Given the description of an element on the screen output the (x, y) to click on. 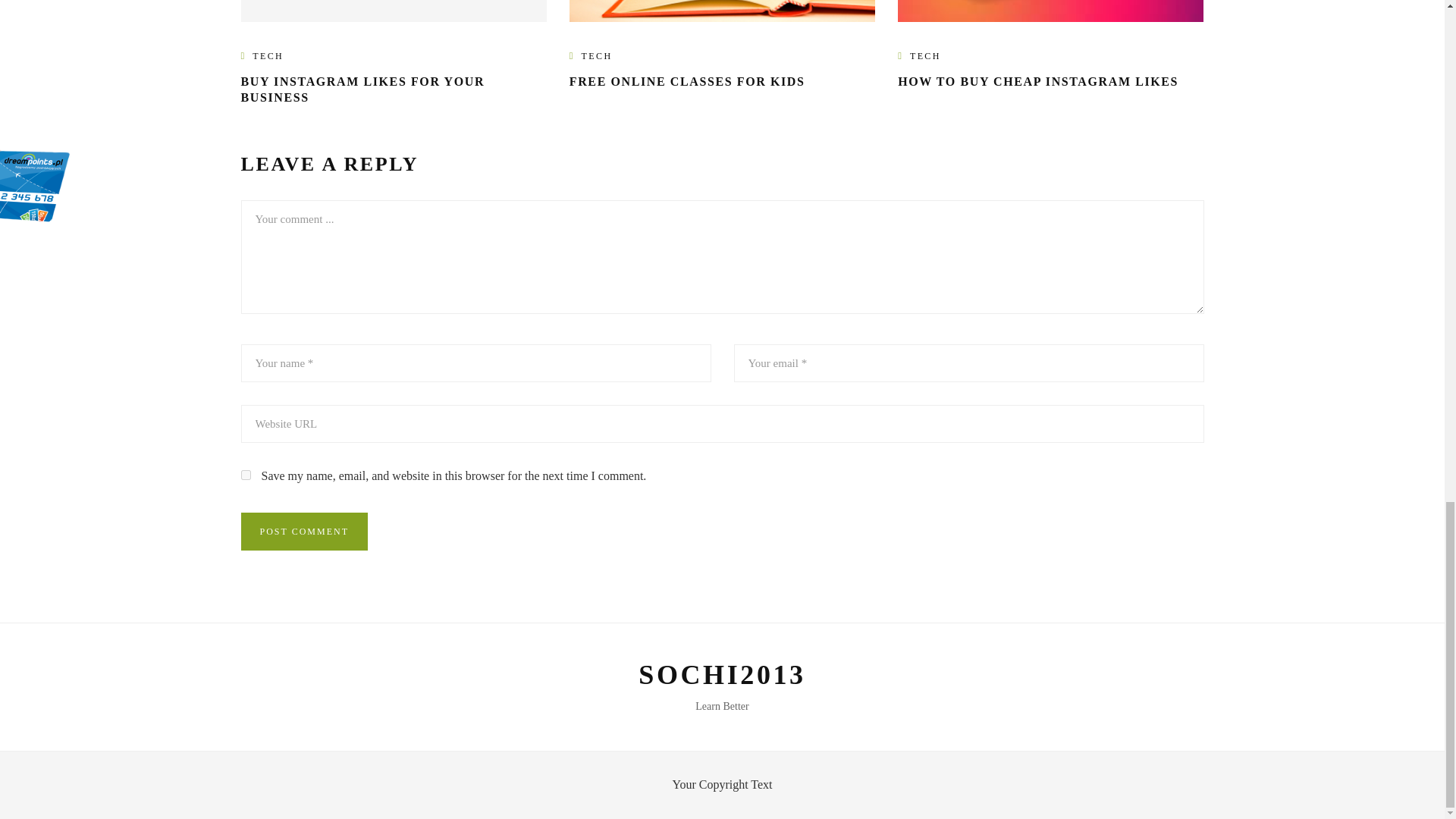
FREE ONLINE CLASSES FOR KIDS (687, 81)
TECH (267, 55)
Post Comment (304, 531)
HOW TO BUY CHEAP INSTAGRAM LIKES (1037, 81)
TECH (596, 55)
SOCHI2013 (722, 675)
yes (245, 474)
BUY INSTAGRAM LIKES FOR YOUR BUSINESS (362, 89)
TECH (925, 55)
Post Comment (304, 531)
